Given the description of an element on the screen output the (x, y) to click on. 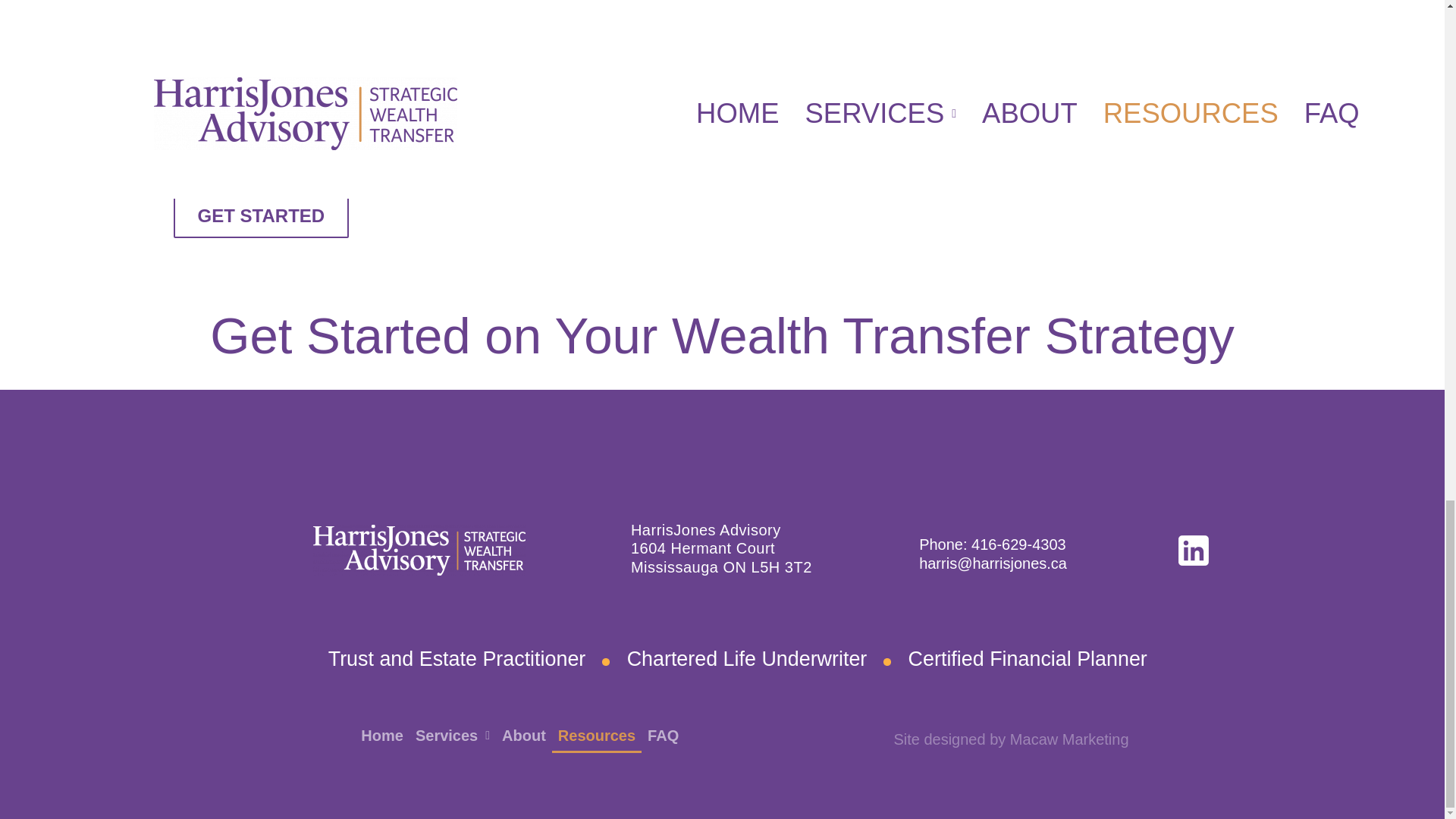
Harris Jones Advisory Logo in white (419, 549)
LinkedIn logo (1192, 550)
